Given the description of an element on the screen output the (x, y) to click on. 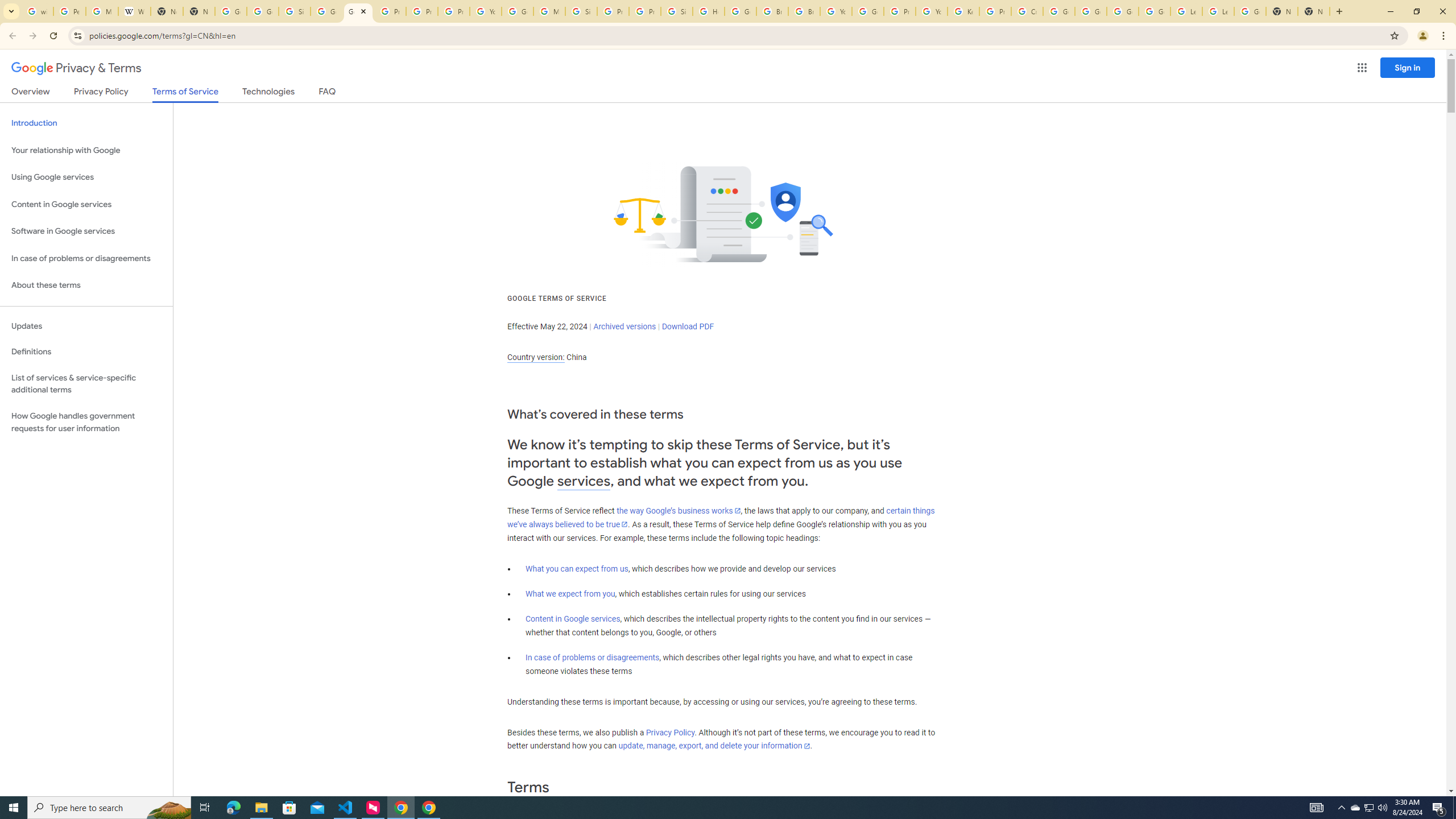
Google Account Help (868, 11)
Google Account (1249, 11)
Content in Google services (572, 618)
Your relationship with Google (86, 150)
Create your Google Account (1027, 11)
List of services & service-specific additional terms (86, 383)
